Given the description of an element on the screen output the (x, y) to click on. 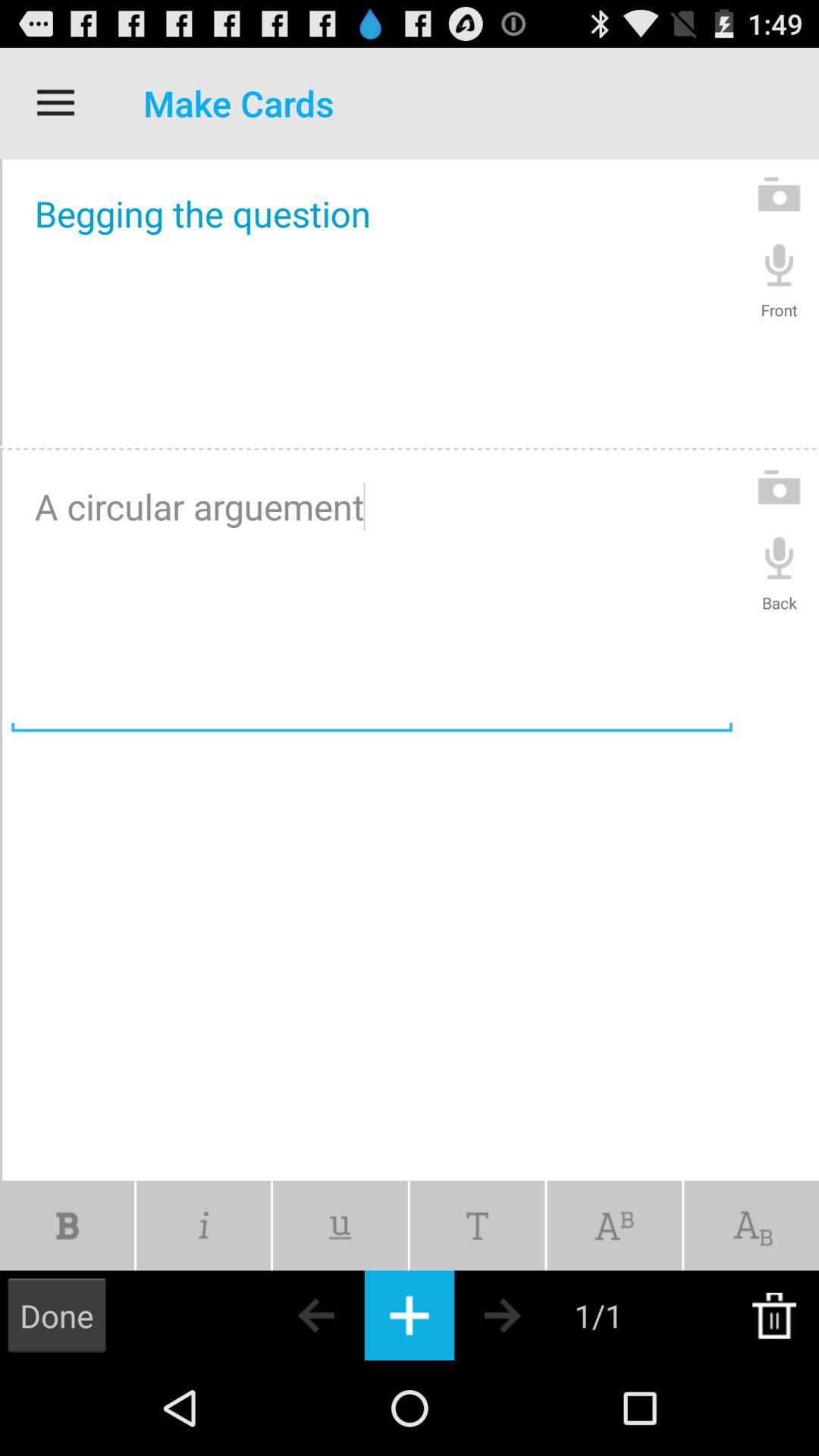
add photo (779, 487)
